Given the description of an element on the screen output the (x, y) to click on. 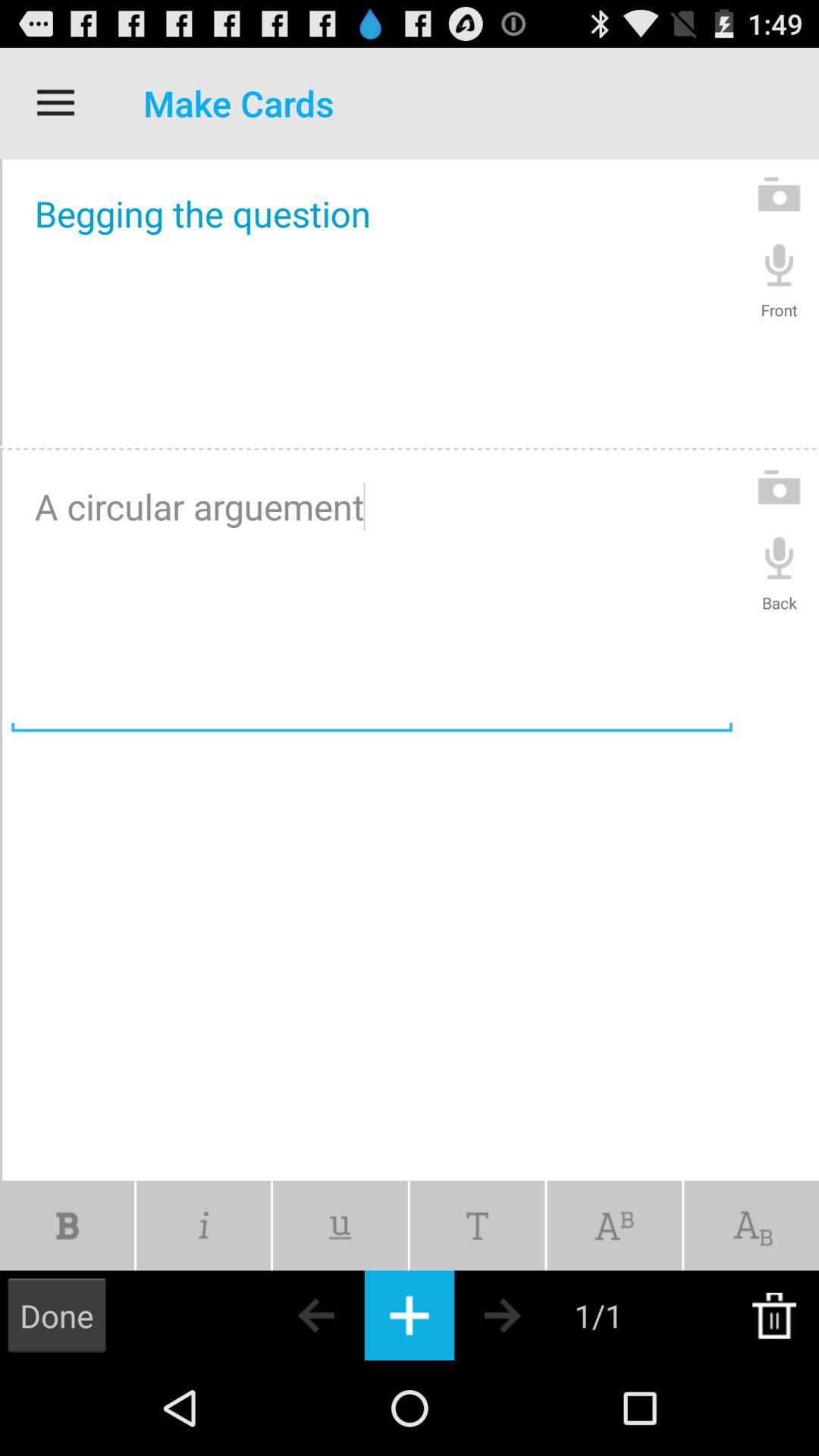
add photo (779, 487)
